Given the description of an element on the screen output the (x, y) to click on. 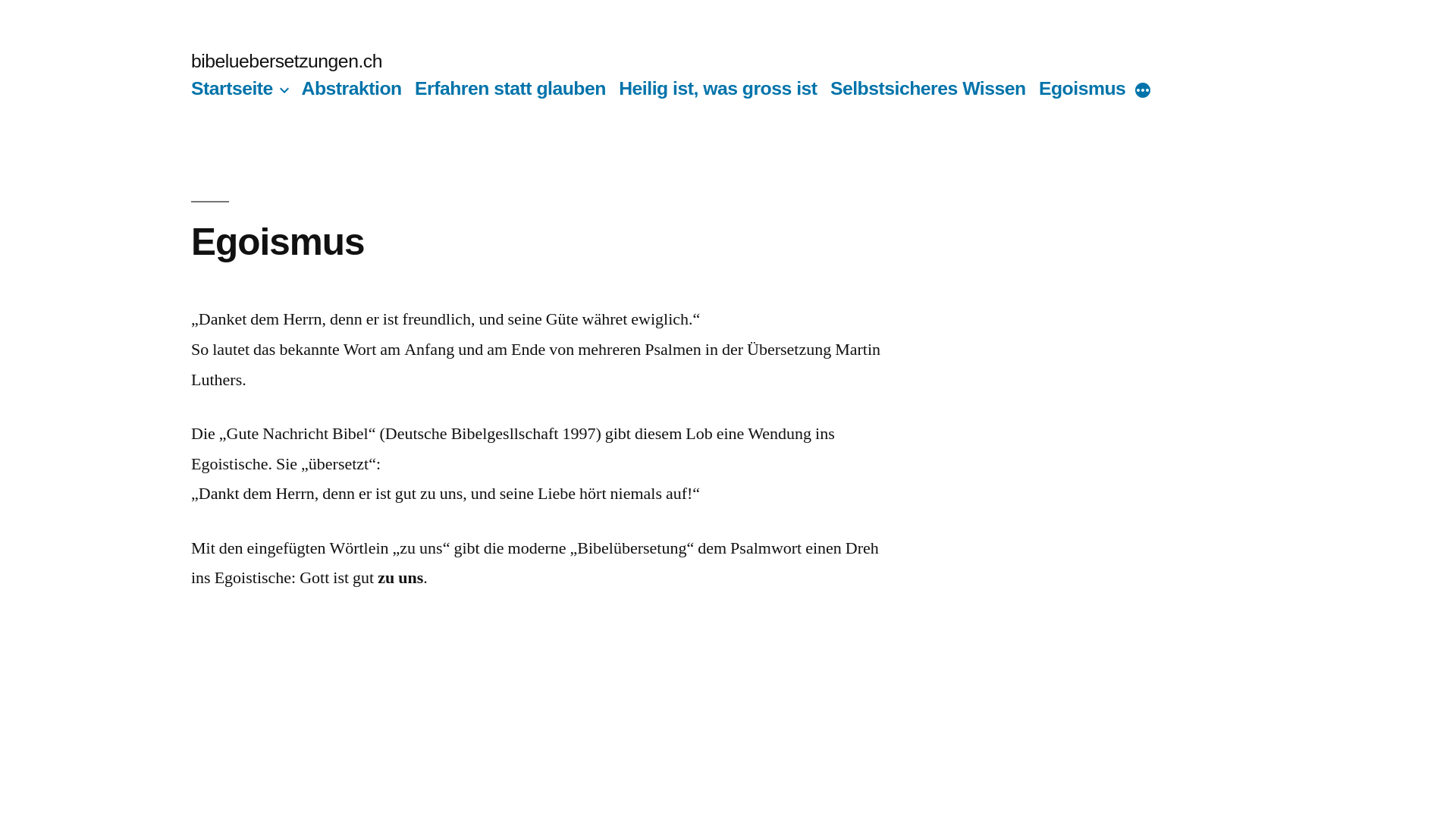
Heilig ist, was gross ist Element type: text (717, 88)
bibeluebersetzungen.ch Element type: text (286, 60)
Abstraktion Element type: text (351, 88)
Selbstsicheres Wissen Element type: text (928, 88)
Egoismus Element type: text (1081, 88)
Erfahren statt glauben Element type: text (509, 88)
Startseite Element type: text (232, 88)
Mehr Element type: text (1142, 91)
